Given the description of an element on the screen output the (x, y) to click on. 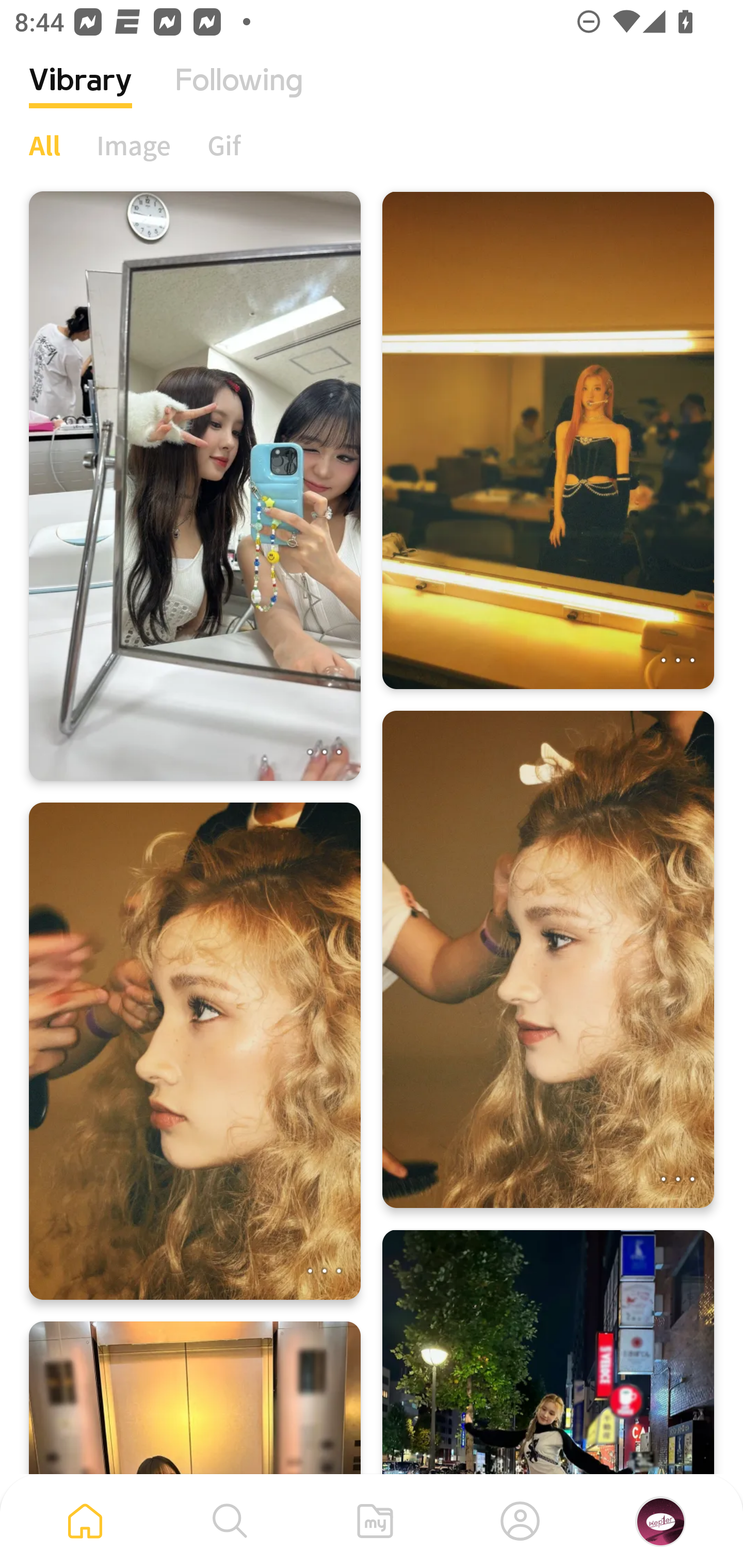
Vibrary (80, 95)
Following (239, 95)
All (44, 145)
Image (133, 145)
Gif (223, 145)
